Given the description of an element on the screen output the (x, y) to click on. 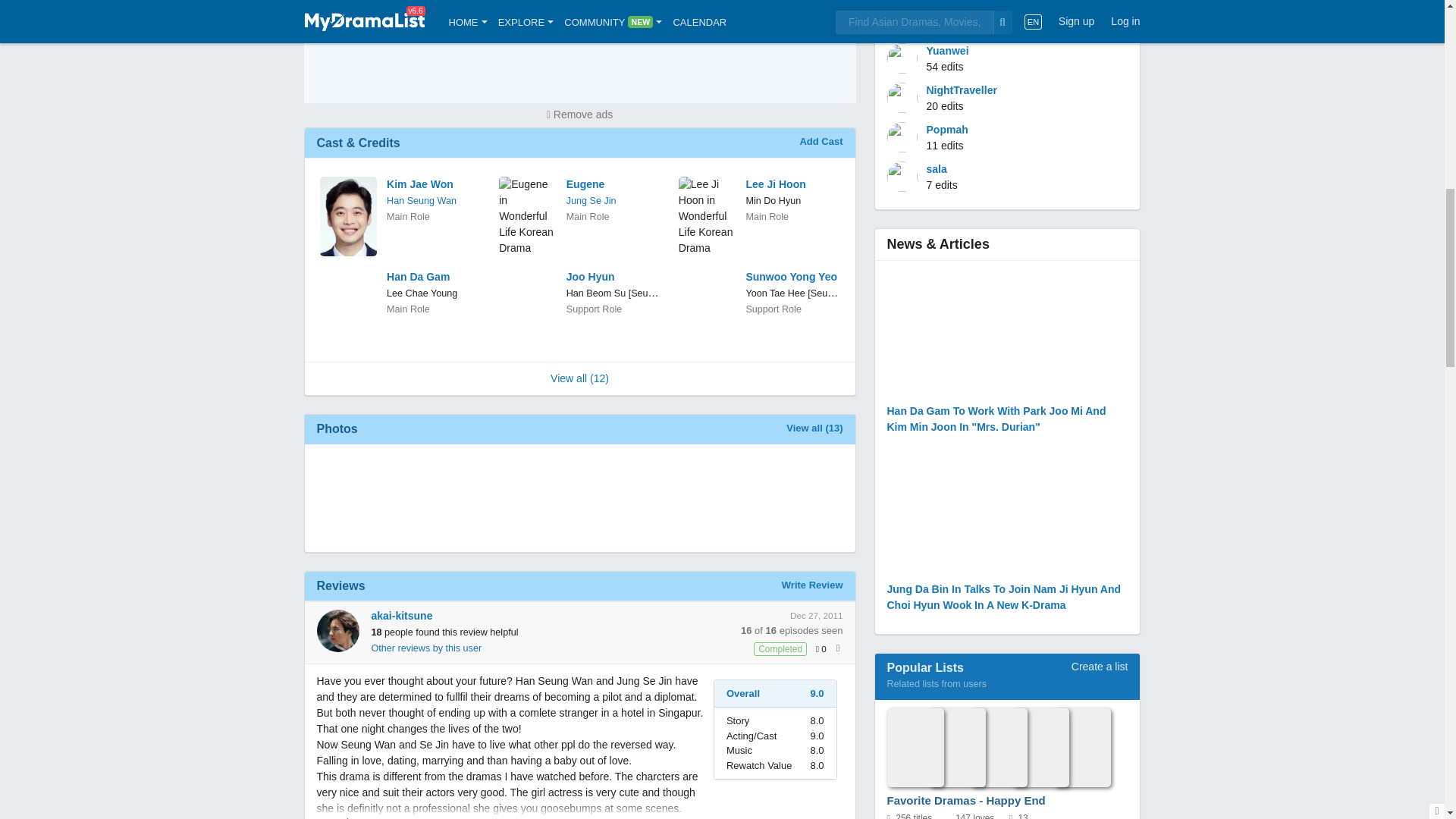
Kim Jae Won (433, 184)
Lee Ji Hoon (792, 184)
Han Da Gam (433, 277)
Lee Chae Young (422, 293)
Min Do Hyun (772, 200)
Jung Se Jin - Wonderful Life (590, 200)
Eugene (613, 184)
Han Seung Wan - Wonderful Life (422, 200)
Joo Hyun (613, 277)
